Given the description of an element on the screen output the (x, y) to click on. 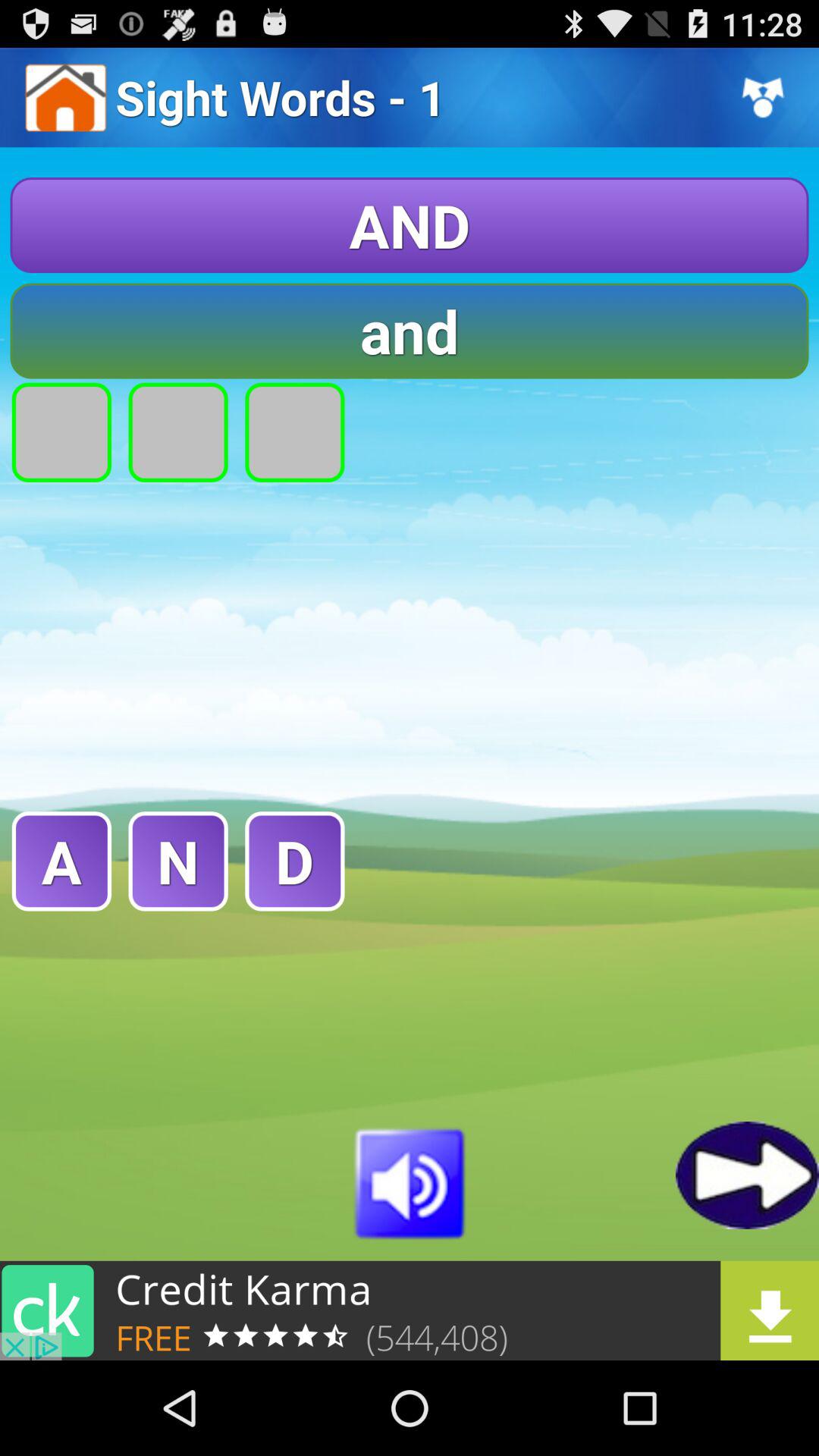
open credit karma advertisement (409, 1310)
